Given the description of an element on the screen output the (x, y) to click on. 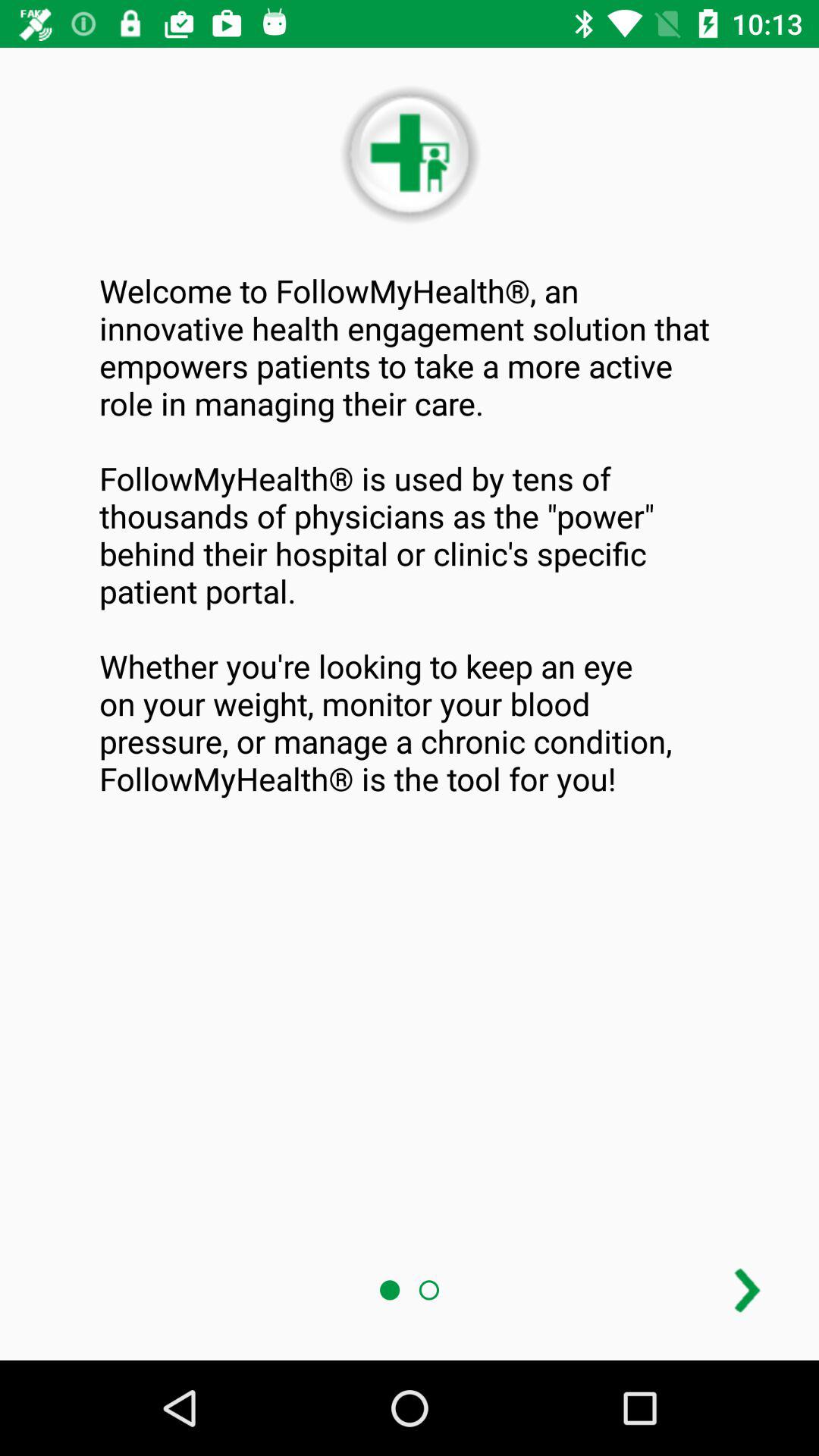
go next (747, 1290)
